Given the description of an element on the screen output the (x, y) to click on. 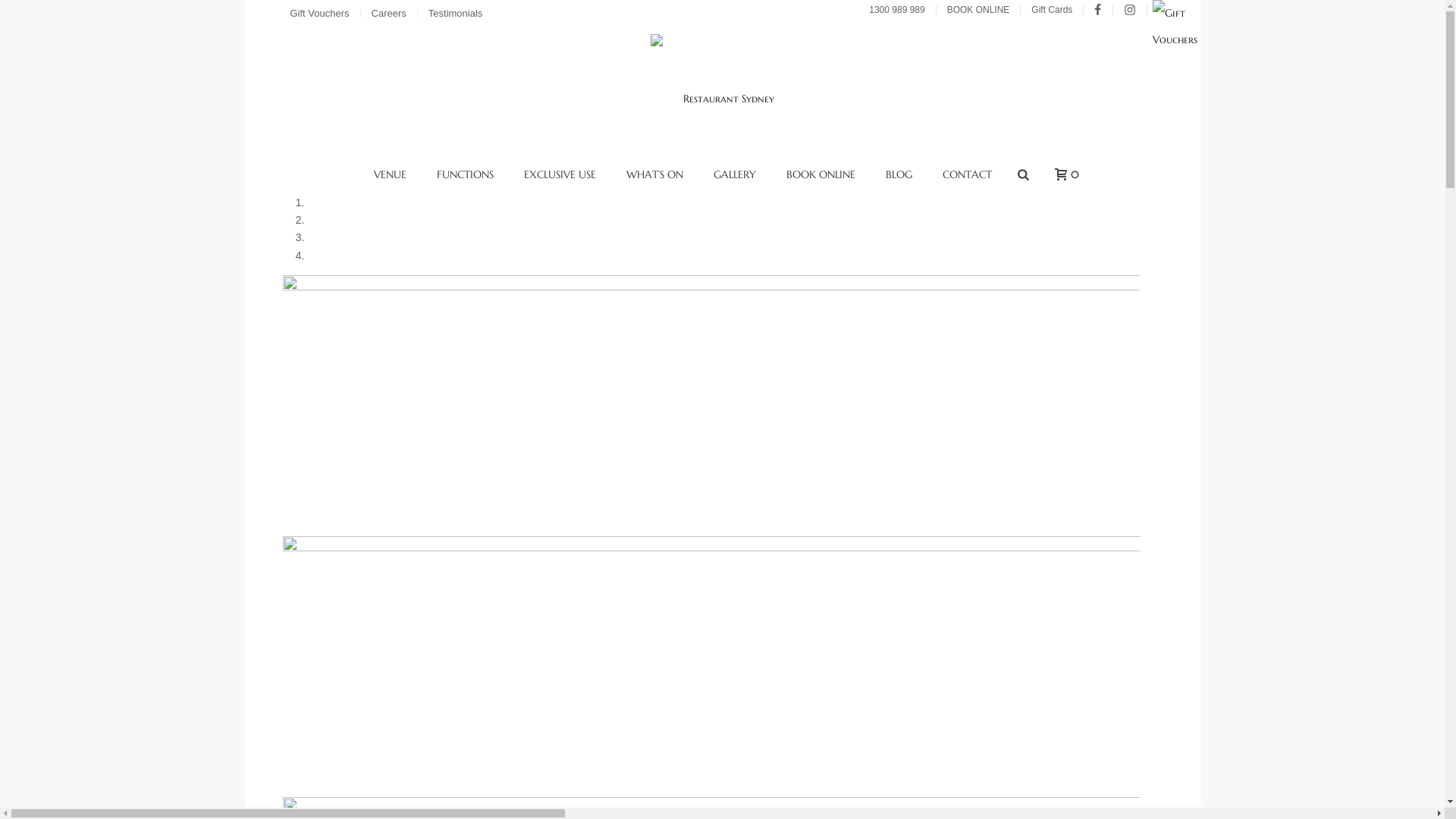
Gift Cards Element type: hover (1187, 39)
adrbfast23header Element type: hover (710, 666)
0 Element type: text (1062, 174)
Testimonials Element type: text (456, 13)
GALLERY Element type: text (734, 174)
Gift Cards Element type: text (1053, 9)
fireworks23wh Element type: hover (710, 405)
FUNCTIONS Element type: text (464, 174)
Careers Element type: text (390, 13)
BLOG Element type: text (898, 174)
EXCLUSIVE USE Element type: text (559, 174)
VENUE Element type: text (389, 174)
CONTACT Element type: text (967, 174)
BOOK ONLINE Element type: text (820, 174)
1300 989 989 Element type: text (898, 9)
Gift Vouchers Element type: text (321, 13)
BOOK ONLINE Element type: text (980, 9)
